Given the description of an element on the screen output the (x, y) to click on. 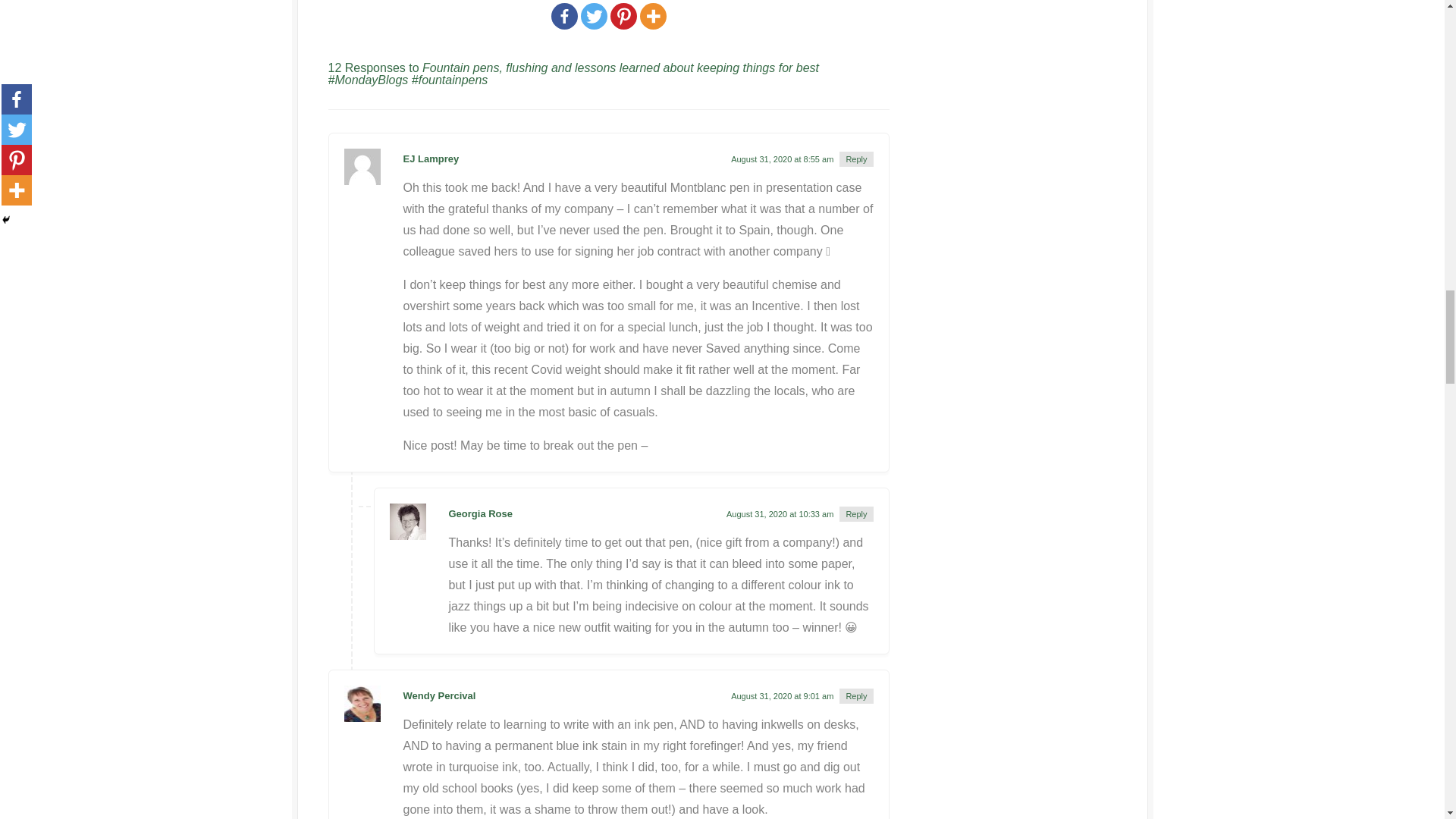
Twitter (593, 16)
Pinterest (623, 16)
Facebook (563, 16)
Georgia Rose (480, 513)
August 31, 2020 at 8:55 am (781, 158)
More (653, 16)
EJ Lamprey (431, 158)
August 31, 2020 at 10:33 am (779, 513)
